Given the description of an element on the screen output the (x, y) to click on. 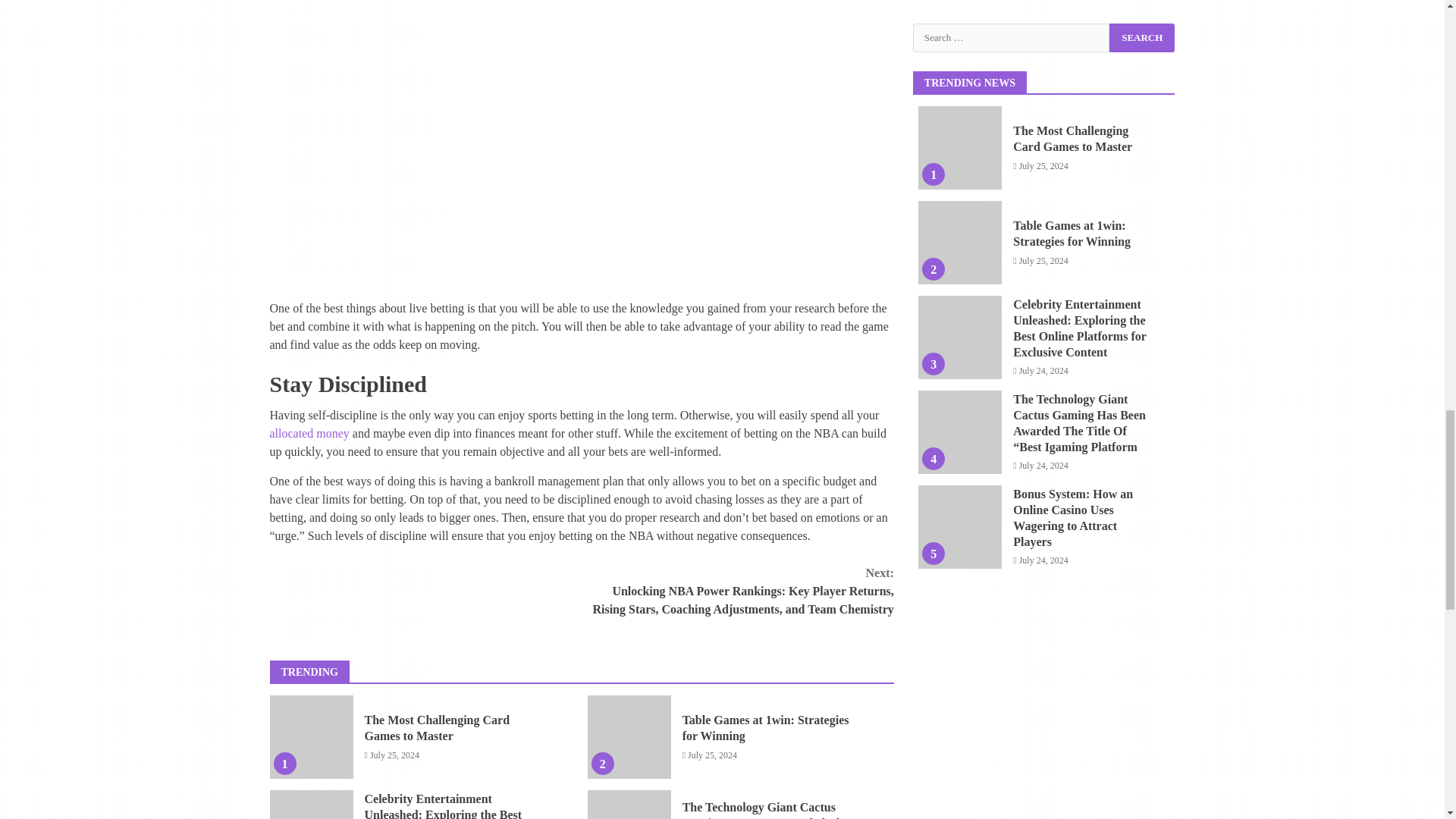
allocated money (309, 432)
